Given the description of an element on the screen output the (x, y) to click on. 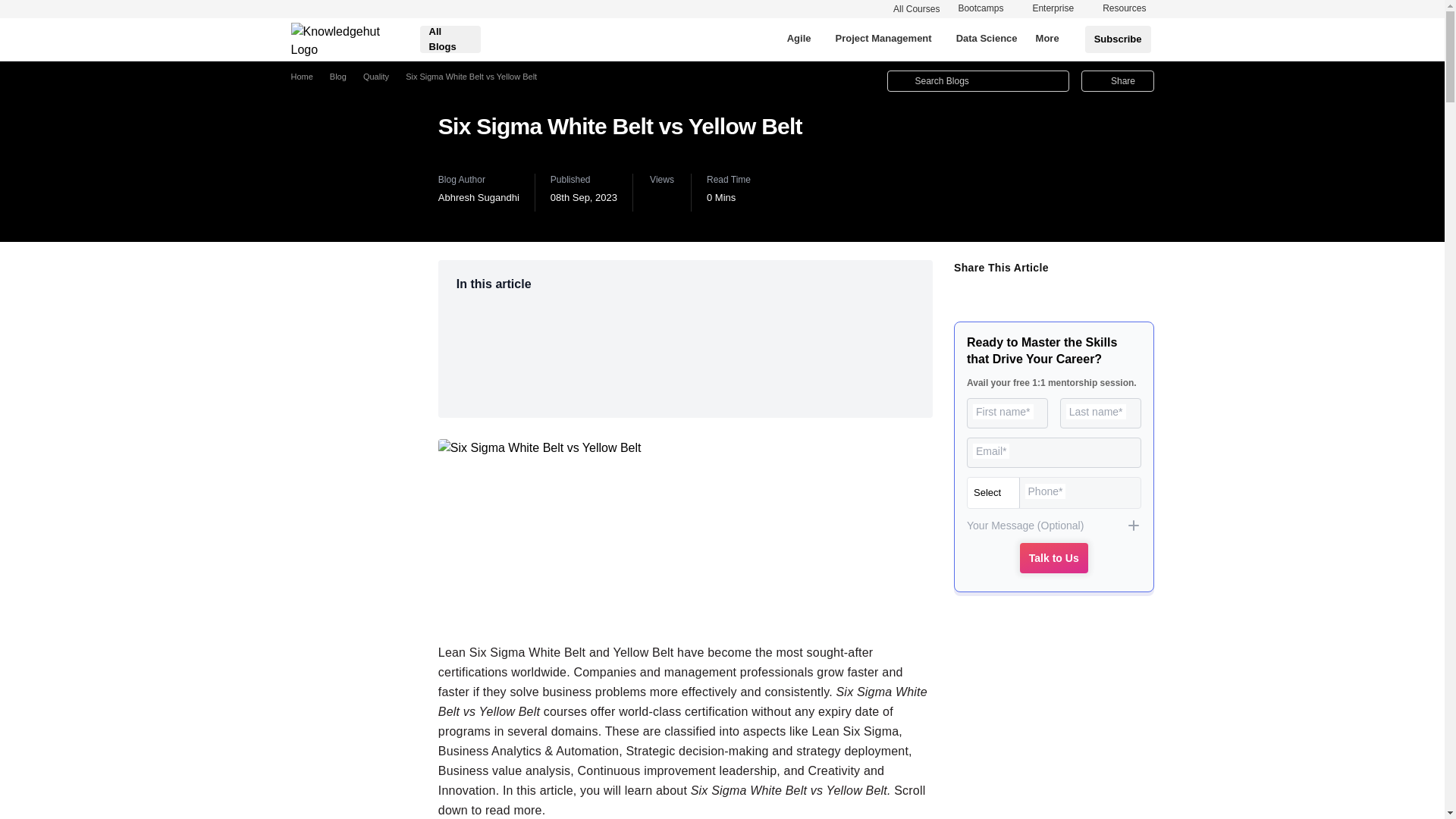
All Blogs (450, 39)
Agile (799, 39)
Data Science (986, 39)
Home (301, 76)
Blog (337, 76)
Project Management (882, 39)
Abhresh Sugandhi (478, 197)
Subscribe (1117, 39)
Quality (375, 76)
All Courses (922, 8)
Talk to Us (1053, 557)
